Given the description of an element on the screen output the (x, y) to click on. 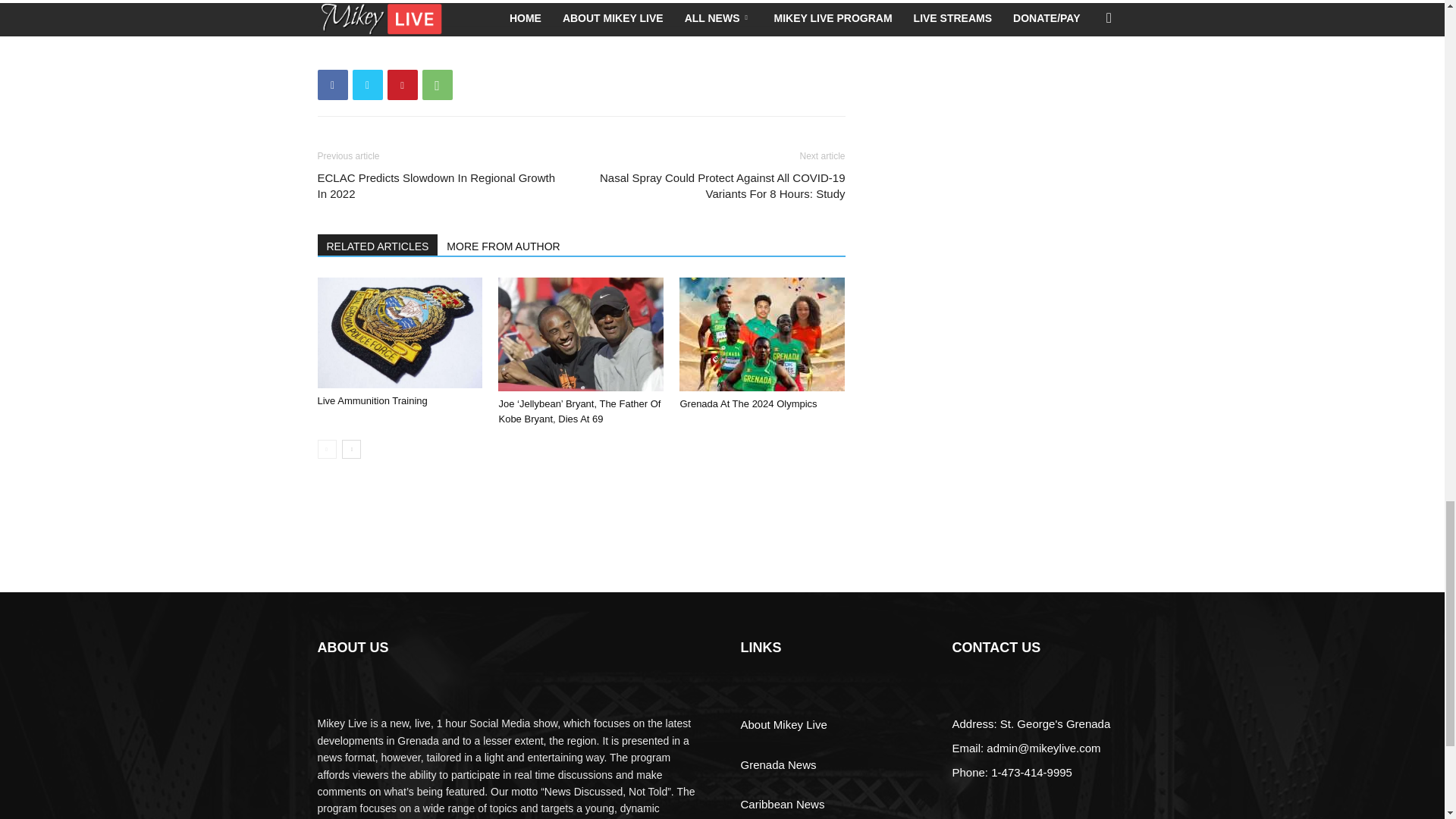
Live Ammunition Training (399, 332)
Pinterest (401, 84)
Facebook (332, 84)
WhatsApp (436, 84)
Twitter (366, 84)
bottomFacebookLike (430, 50)
Live Ammunition Training (371, 400)
